Given the description of an element on the screen output the (x, y) to click on. 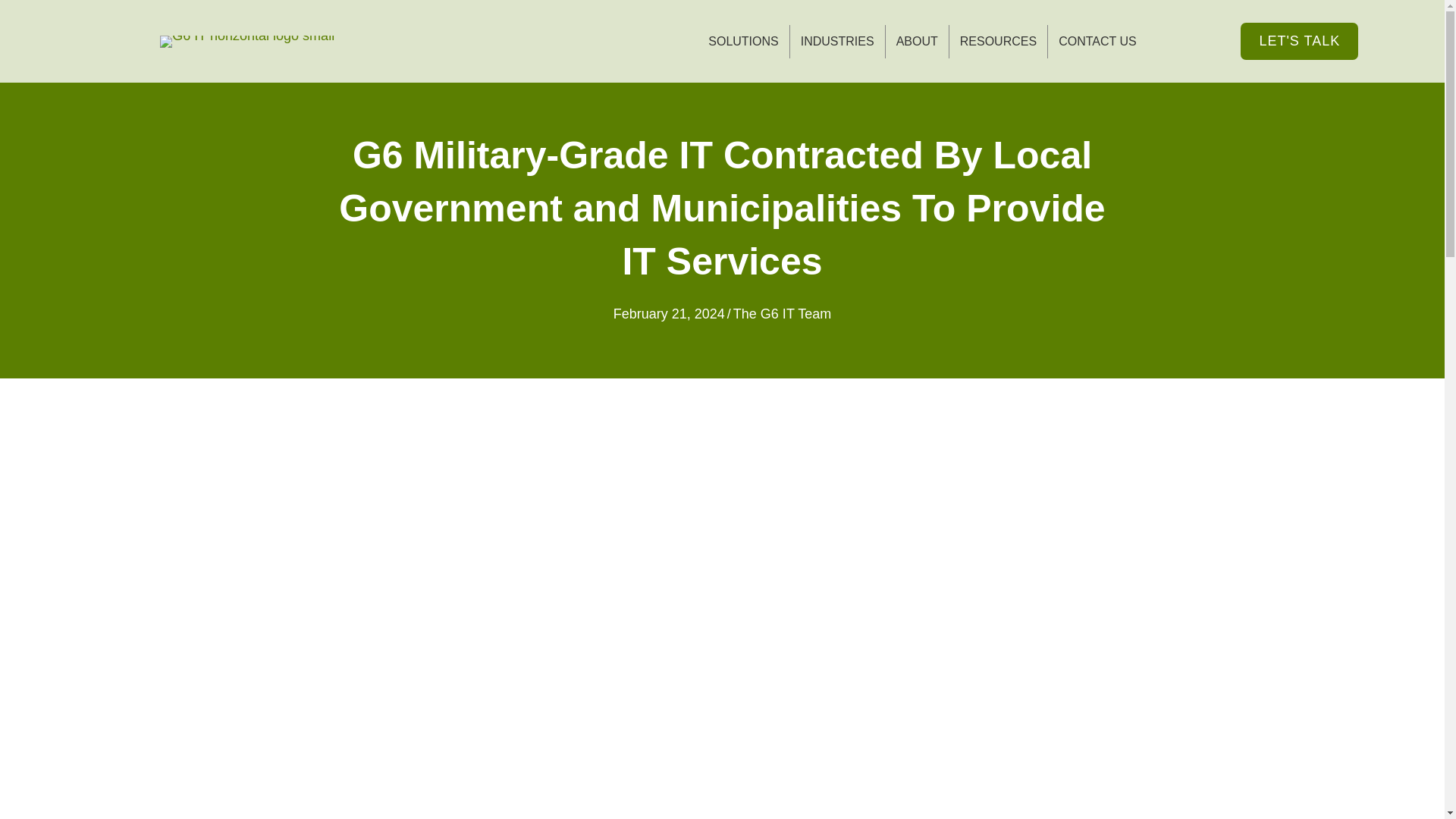
SOLUTIONS (743, 41)
G6 Logo Horizontal small (247, 41)
INDUSTRIES (837, 41)
ABOUT (917, 41)
